Given the description of an element on the screen output the (x, y) to click on. 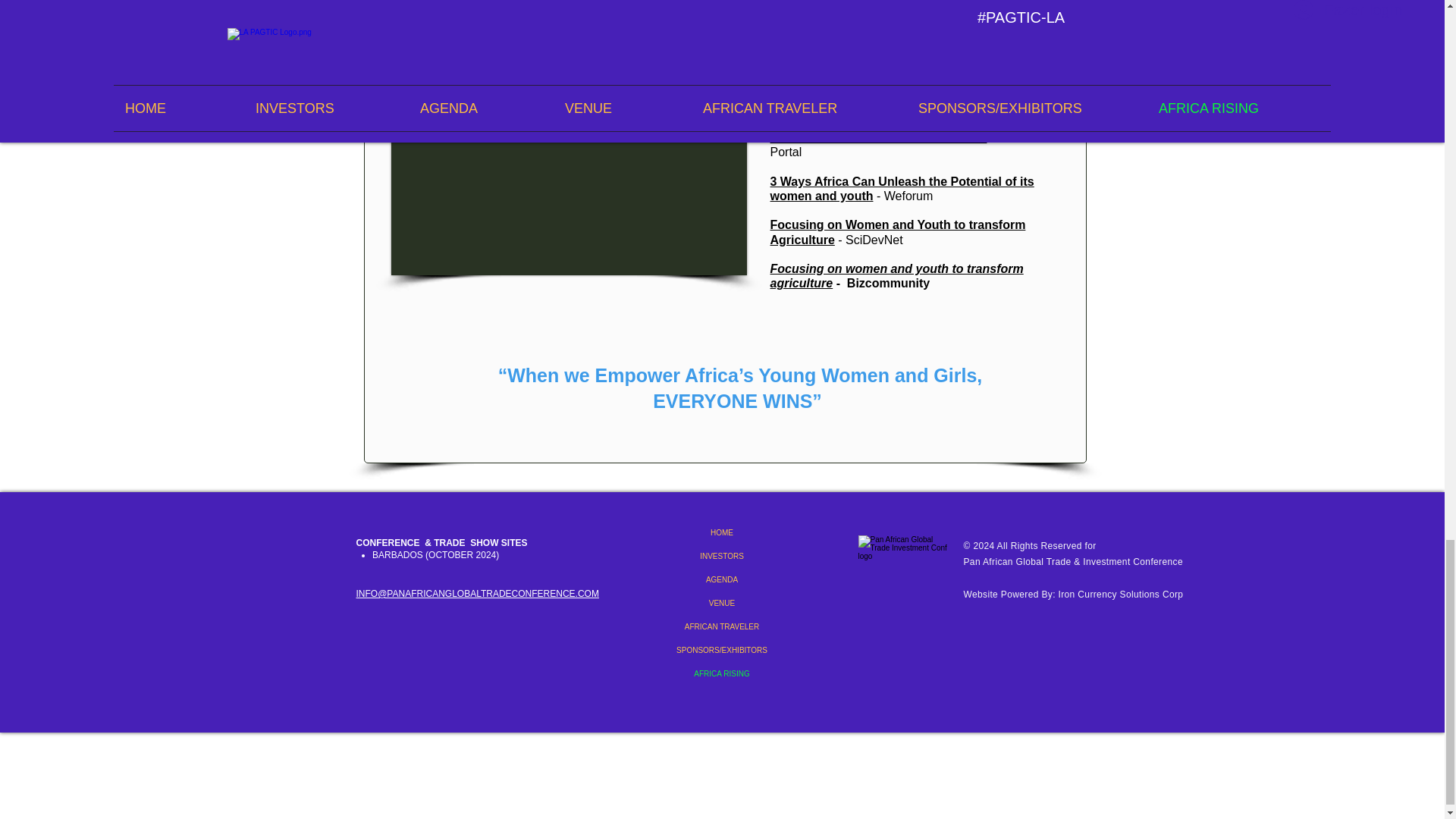
HOME (722, 532)
Focusing on Women and Youth to transform Agriculture (898, 231)
Winning in Africa's agricultural market  (882, 93)
Focusing on women and youth to transform agriculture (896, 275)
Africa: The Food Basket of the World (878, 137)
